Given the description of an element on the screen output the (x, y) to click on. 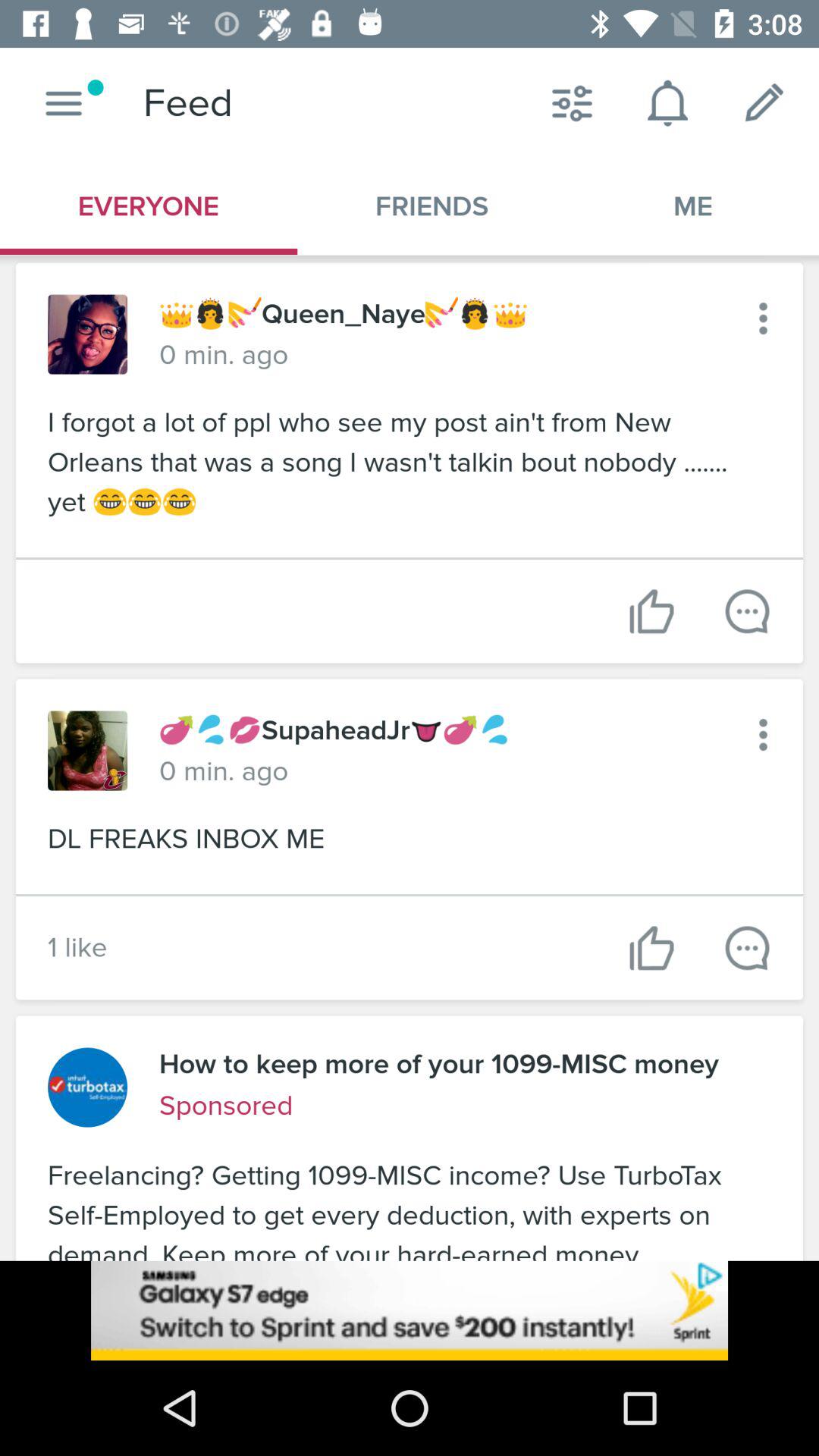
click the like button (651, 947)
